Given the description of an element on the screen output the (x, y) to click on. 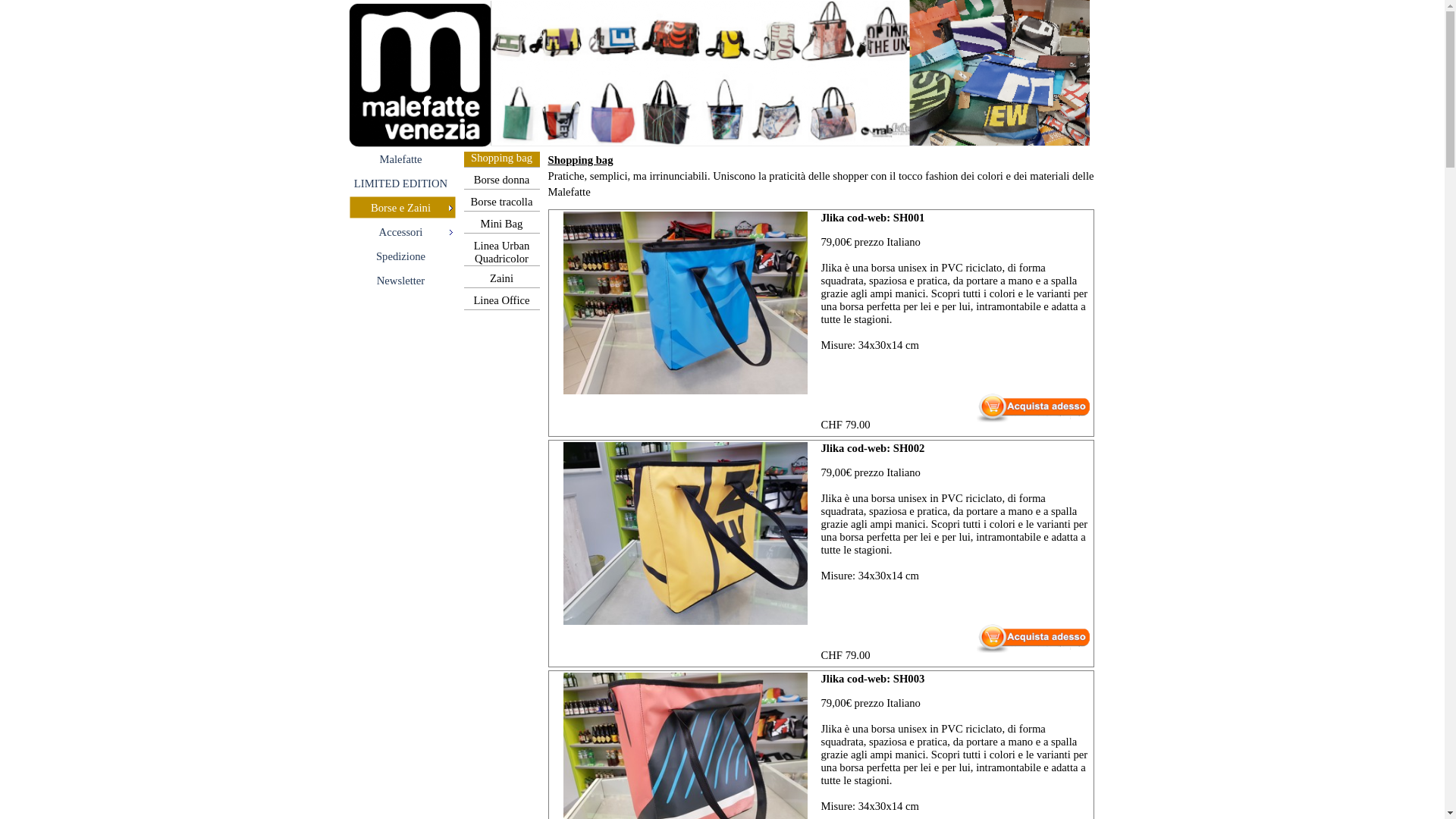
LIMITED EDITION Element type: text (402, 183)
Mini Bag Element type: text (501, 224)
Aggiungi Element type: hover (1016, 413)
Linea Urban Quadricolor Element type: text (501, 252)
Jlika cod-web: SH002 Element type: hover (684, 533)
Jlika cod-web: SH001 Element type: hover (684, 302)
Malefatte Element type: text (402, 158)
Linea Office Element type: text (501, 301)
Borse tracolla Element type: text (501, 202)
Shopping bag Element type: text (501, 158)
Spedizione Element type: text (402, 255)
Aggiungi Element type: hover (1016, 643)
Borse donna Element type: text (501, 180)
Zaini Element type: text (501, 279)
Newsletter Element type: text (402, 280)
